Given the description of an element on the screen output the (x, y) to click on. 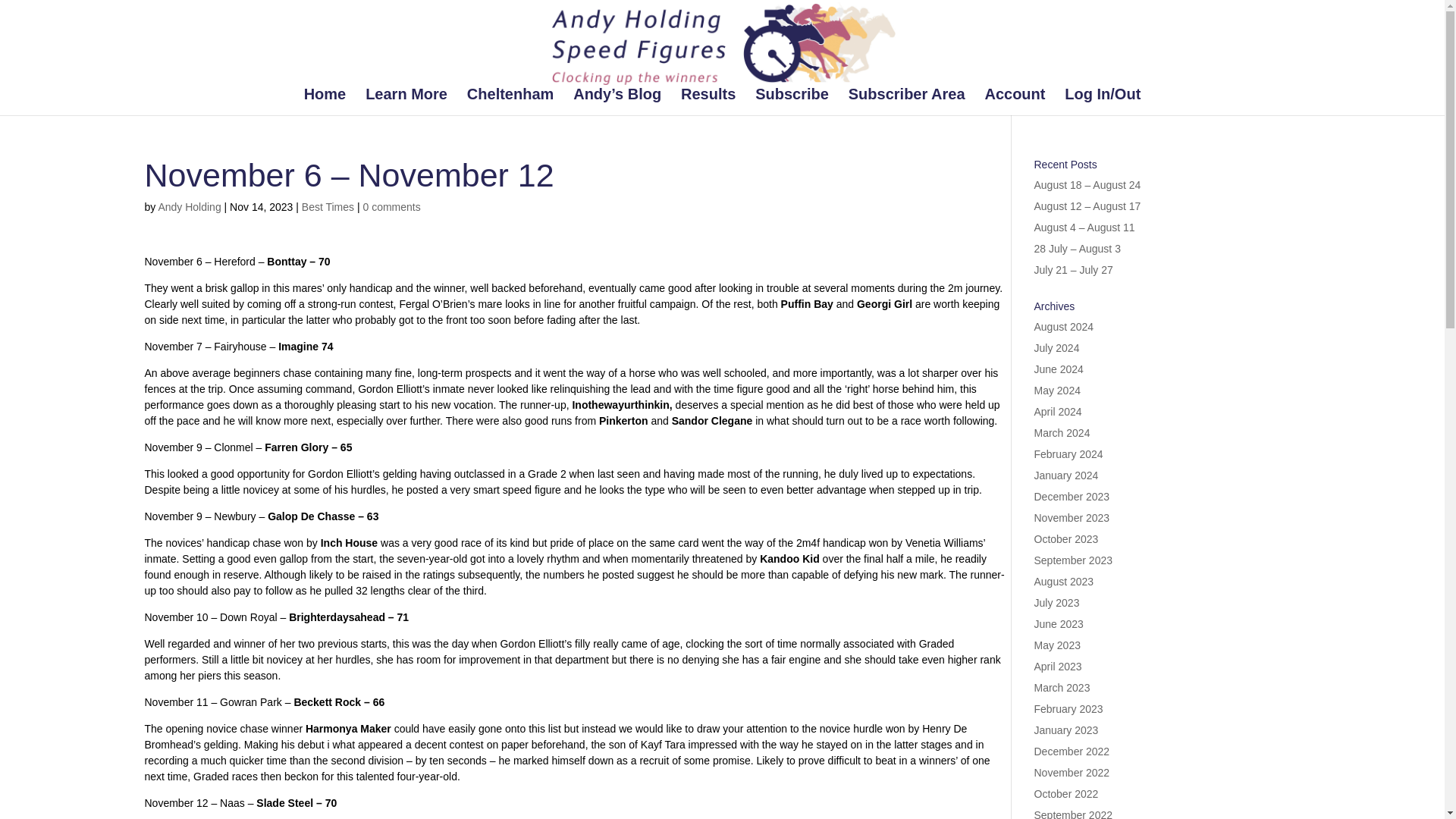
Posts by Andy Holding (189, 206)
Results (708, 101)
0 comments (391, 206)
Andy Holding (189, 206)
June 2024 (1058, 369)
April 2024 (1057, 411)
January 2024 (1066, 475)
May 2024 (1056, 390)
Subscriber Area (906, 101)
Subscribe (791, 101)
